Given the description of an element on the screen output the (x, y) to click on. 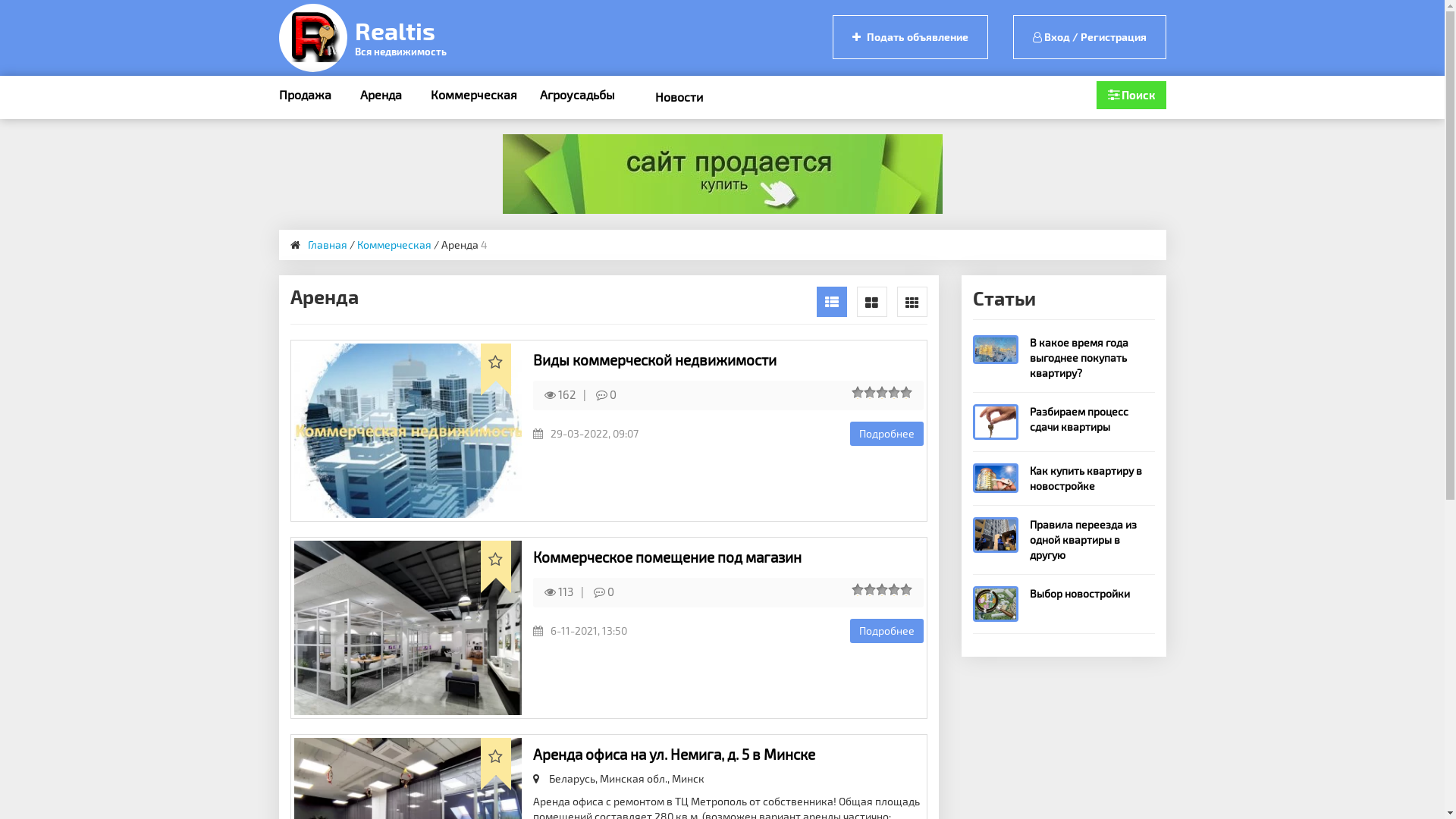
1 Element type: text (856, 589)
3 Element type: text (882, 589)
4 Element type: text (896, 391)
1 Element type: text (856, 391)
2 Element type: text (870, 589)
5 Element type: text (908, 391)
4 Element type: text (896, 589)
2 Element type: text (870, 391)
5 Element type: text (908, 589)
3 Element type: text (882, 391)
